Given the description of an element on the screen output the (x, y) to click on. 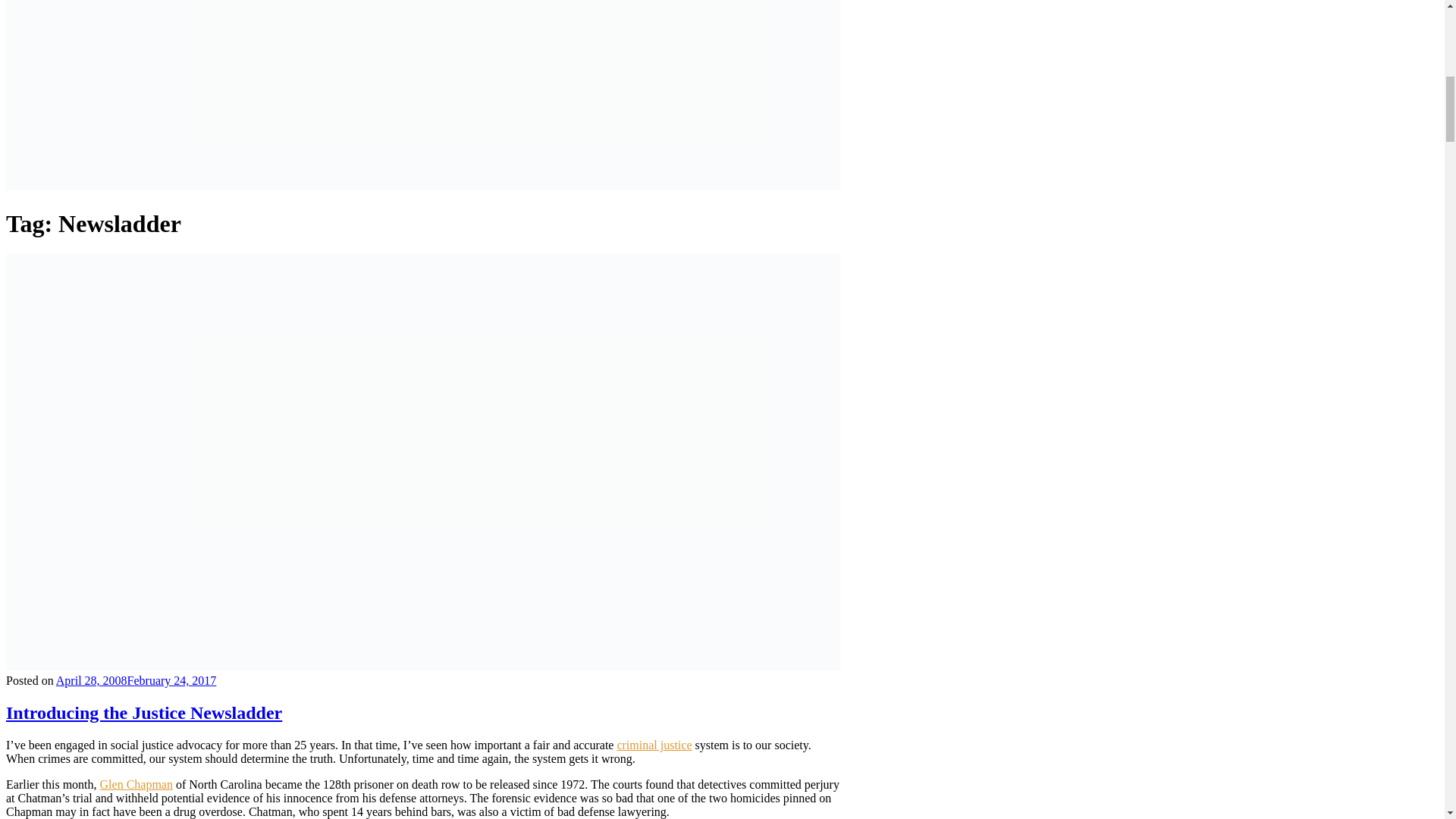
Glen Chapman (136, 784)
criminal justice (653, 744)
April 28, 2008February 24, 2017 (136, 680)
Introducing the Justice Newsladder (143, 712)
